Given the description of an element on the screen output the (x, y) to click on. 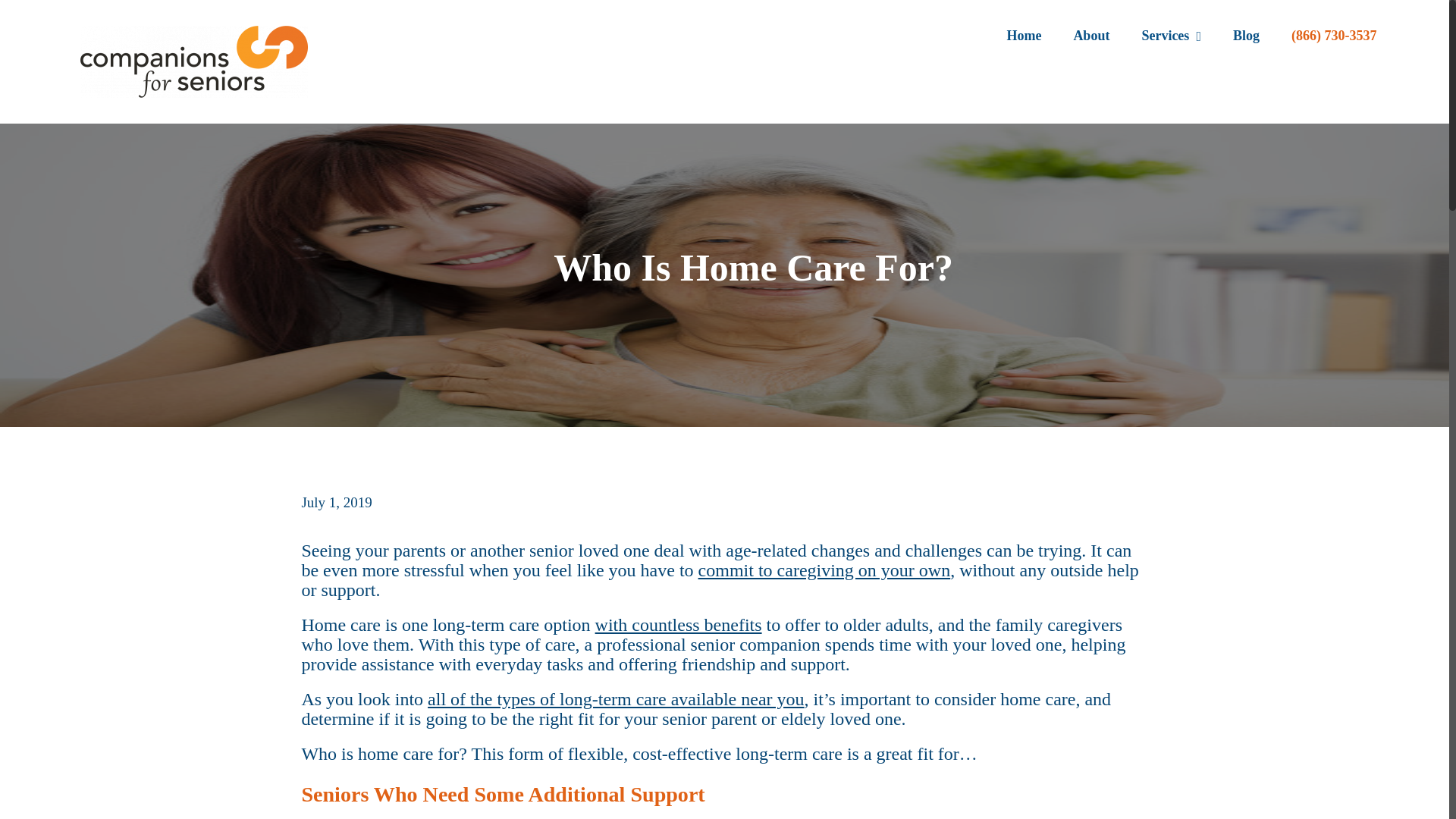
commit to caregiving on your own (824, 569)
with countless benefits (678, 624)
